Given the description of an element on the screen output the (x, y) to click on. 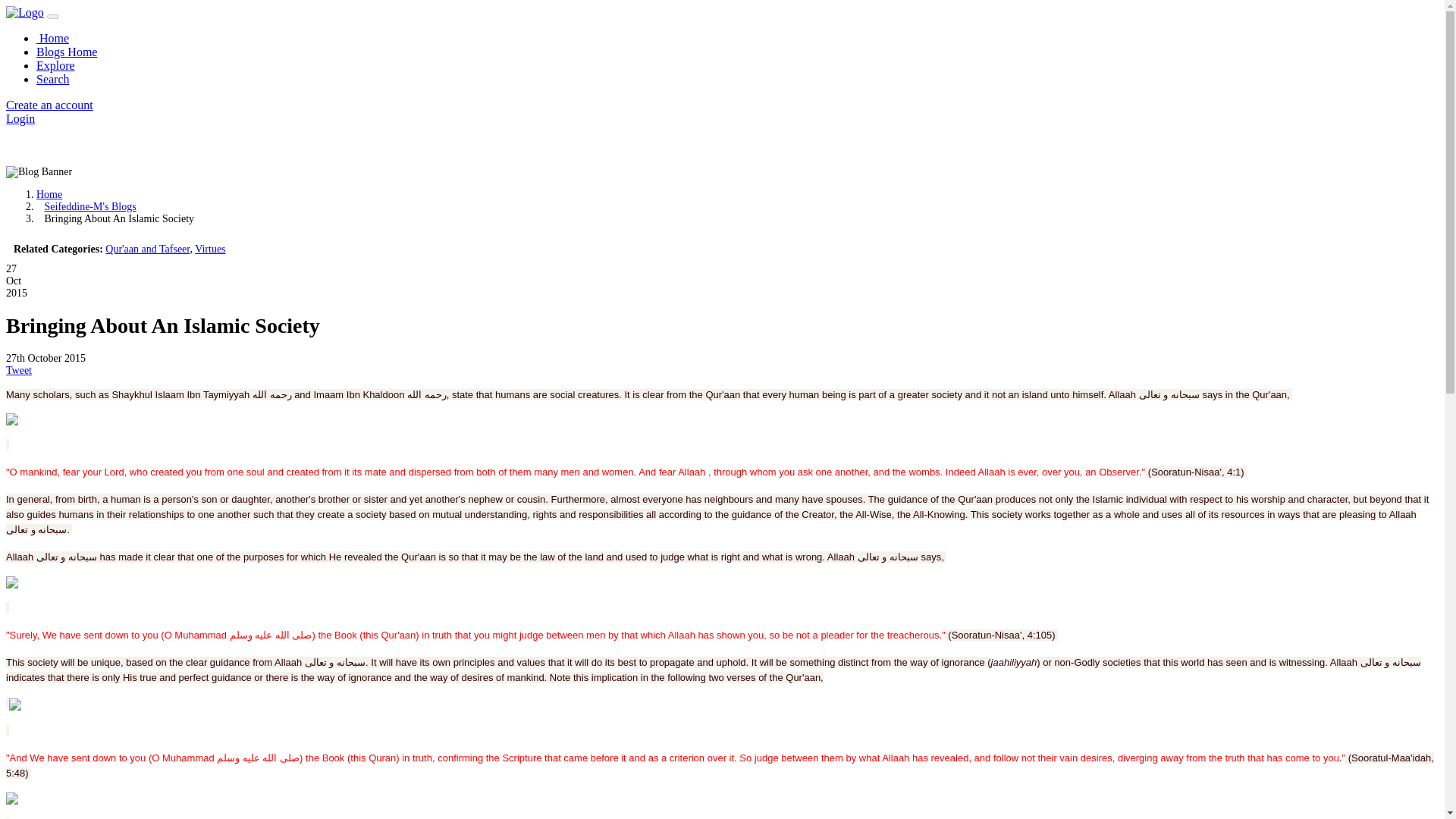
Qur'aan and Tafseer (146, 248)
Create an account (49, 104)
Virtues (210, 248)
Home (49, 194)
Seifeddine-M's Blogs (89, 206)
Login (19, 118)
Tweet (18, 369)
Explore (55, 65)
Search (52, 78)
Blogs Home (66, 51)
